Given the description of an element on the screen output the (x, y) to click on. 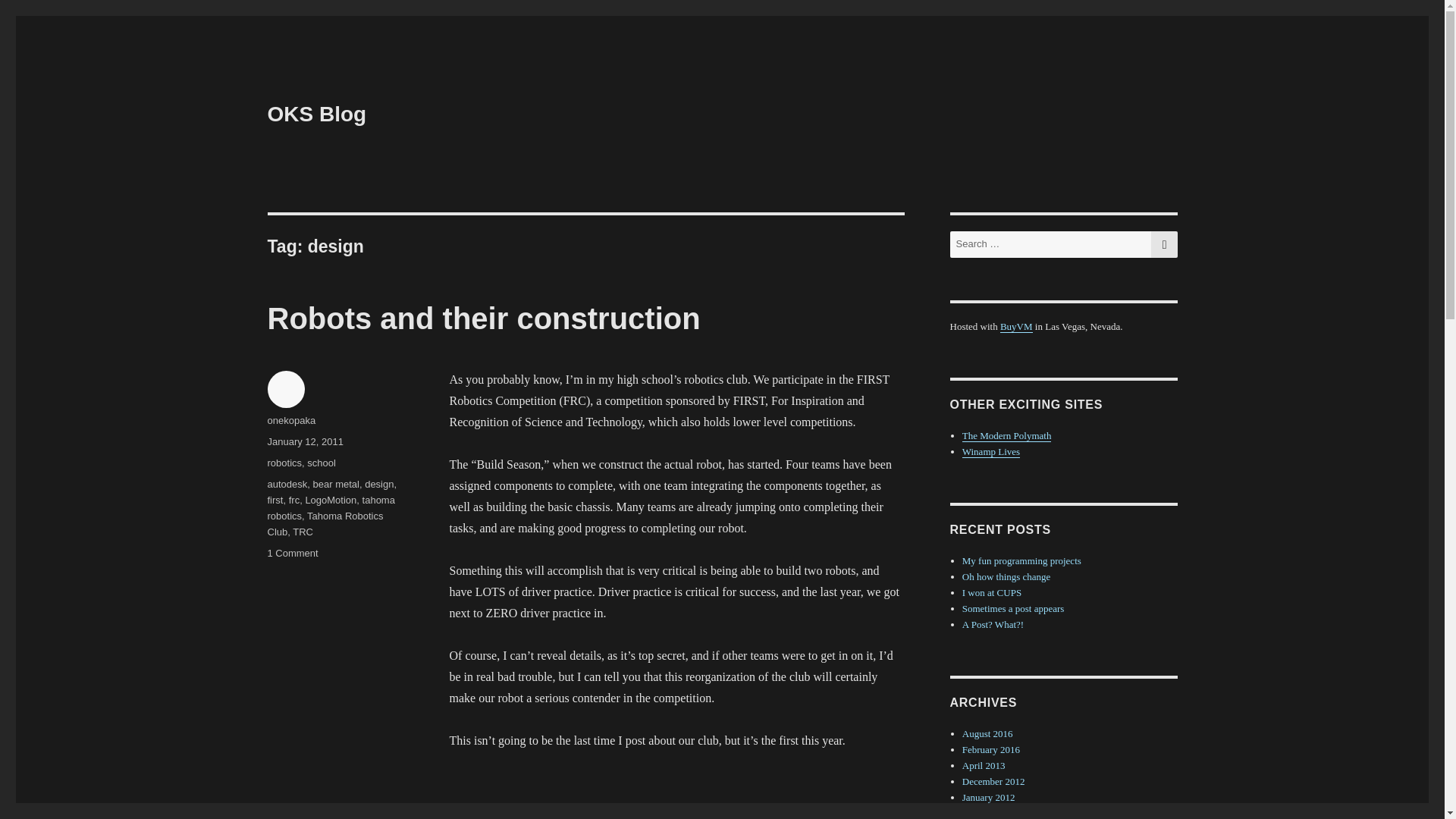
The Modern Polymath (1006, 435)
LogoMotion (330, 500)
Winamp Lives (991, 451)
Tahoma Robotics Club (324, 523)
December 2011 (993, 813)
tahoma robotics (330, 507)
school (321, 462)
SEARCH (1164, 243)
My fun programming projects (1021, 560)
bear metal (335, 483)
robotics (283, 462)
design (379, 483)
August 2016 (987, 733)
January 12, 2011 (304, 441)
January 2012 (988, 797)
